Given the description of an element on the screen output the (x, y) to click on. 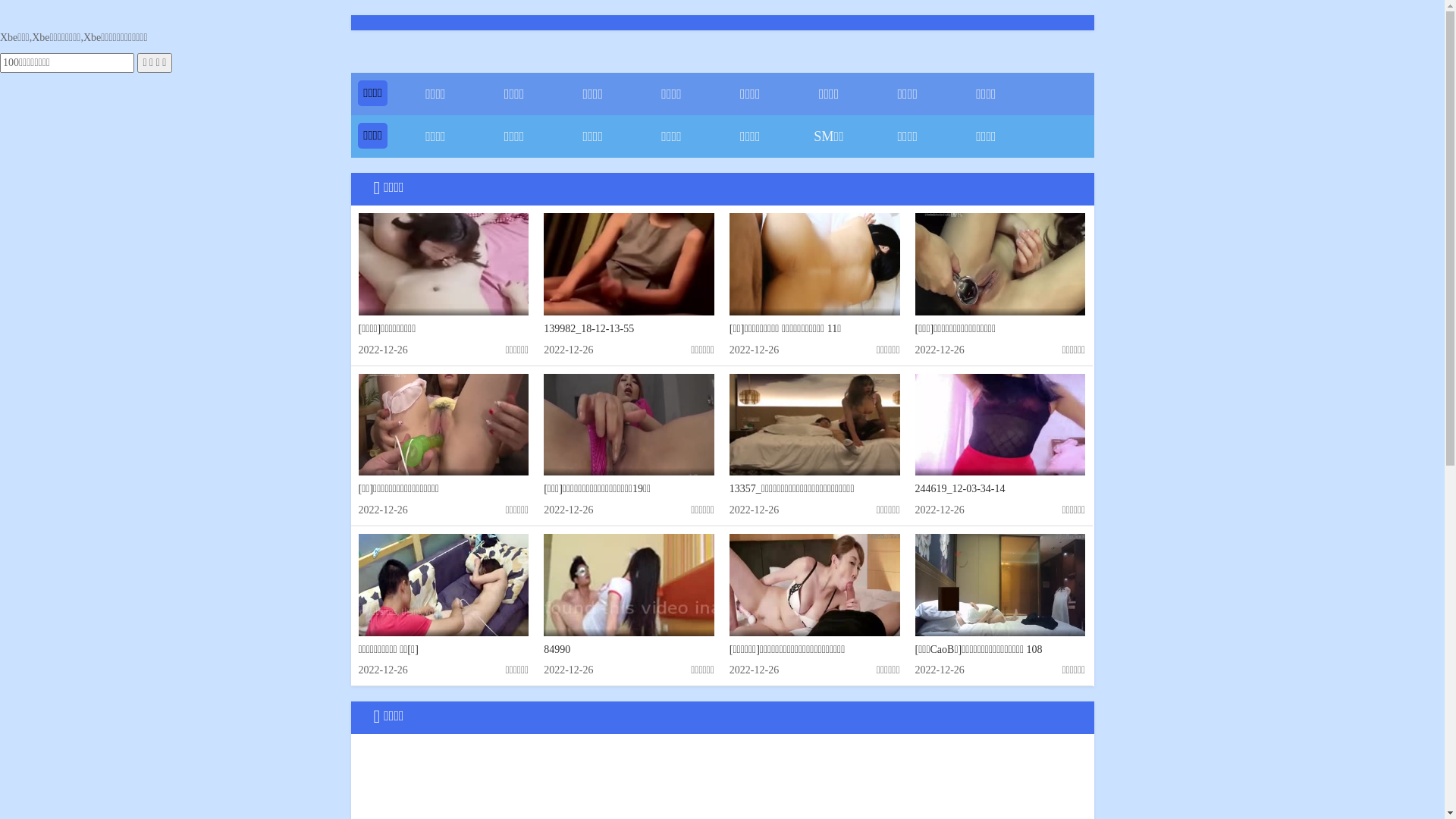
139982_18-12-13-55 Element type: text (588, 328)
139982_18-12-13-55 Element type: hover (628, 264)
244619_12-03-34-14 Element type: text (960, 488)
84990 Element type: text (556, 649)
244619_12-03-34-14 Element type: hover (1000, 424)
84990 Element type: hover (628, 584)
